Given the description of an element on the screen output the (x, y) to click on. 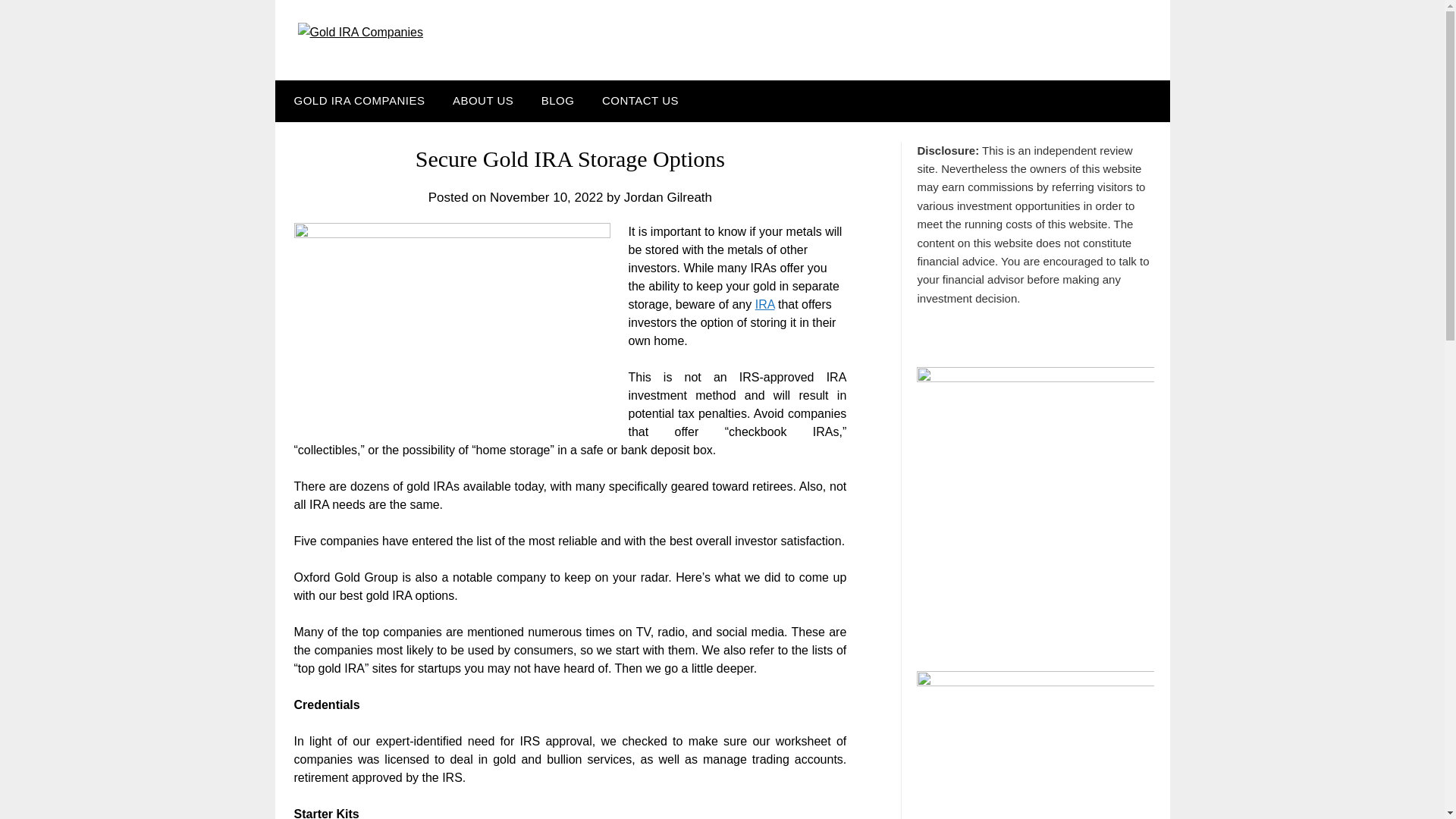
CONTACT US (639, 100)
BLOG (557, 100)
GOLD IRA COMPANIES (355, 100)
ABOUT US (483, 100)
IRA (764, 304)
Jordan Gilreath (667, 197)
November 10, 2022 (545, 197)
